Given the description of an element on the screen output the (x, y) to click on. 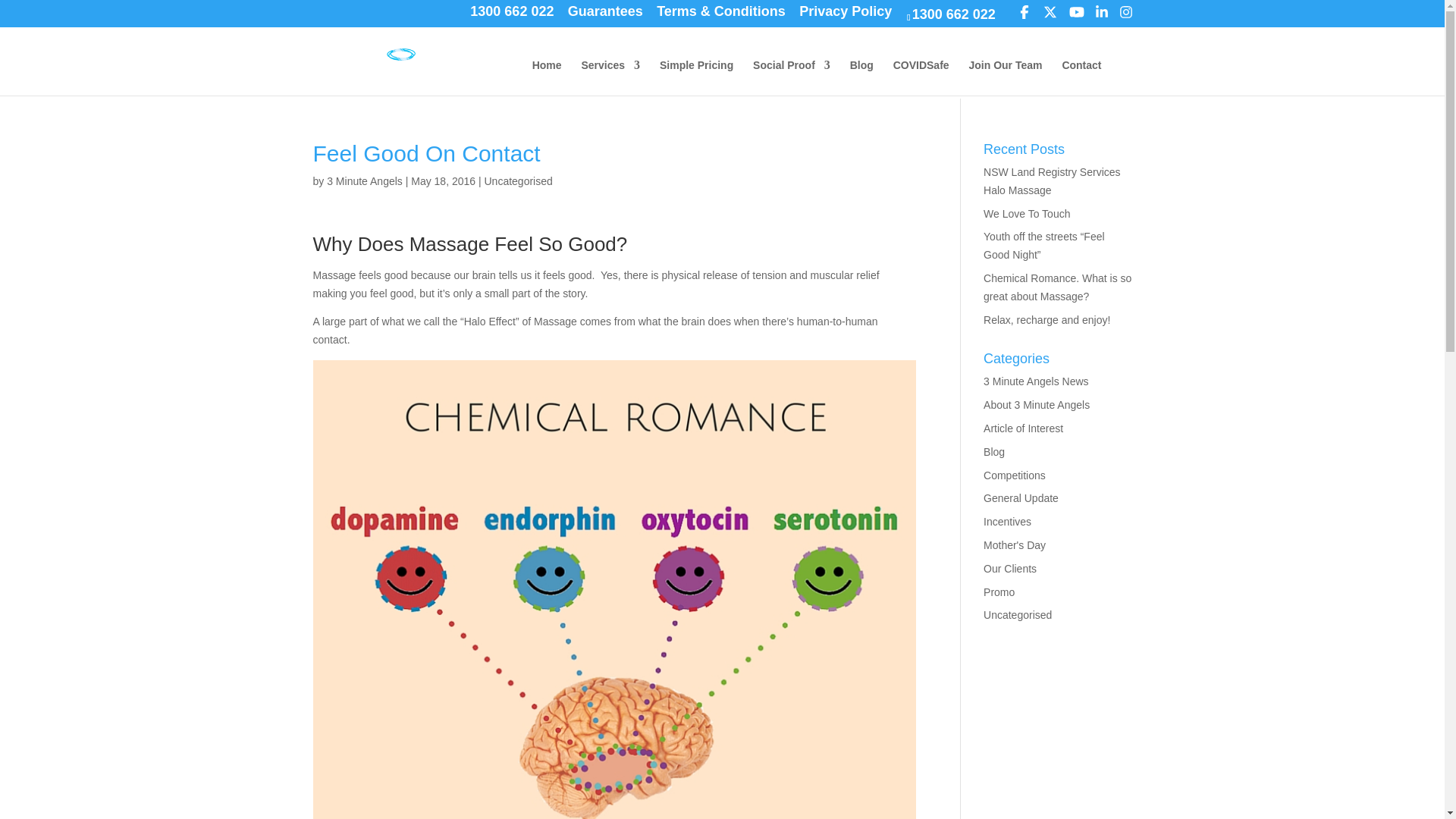
COVIDSafe (921, 77)
1300 662 022 (953, 14)
Simple Pricing (696, 77)
Contact (1080, 77)
Services (610, 77)
Guarantees (605, 16)
Privacy Policy (845, 16)
Social Proof (790, 77)
Join Our Team (1005, 77)
Posts by 3 Minute Angels (364, 181)
1300 662 022 (511, 16)
